Given the description of an element on the screen output the (x, y) to click on. 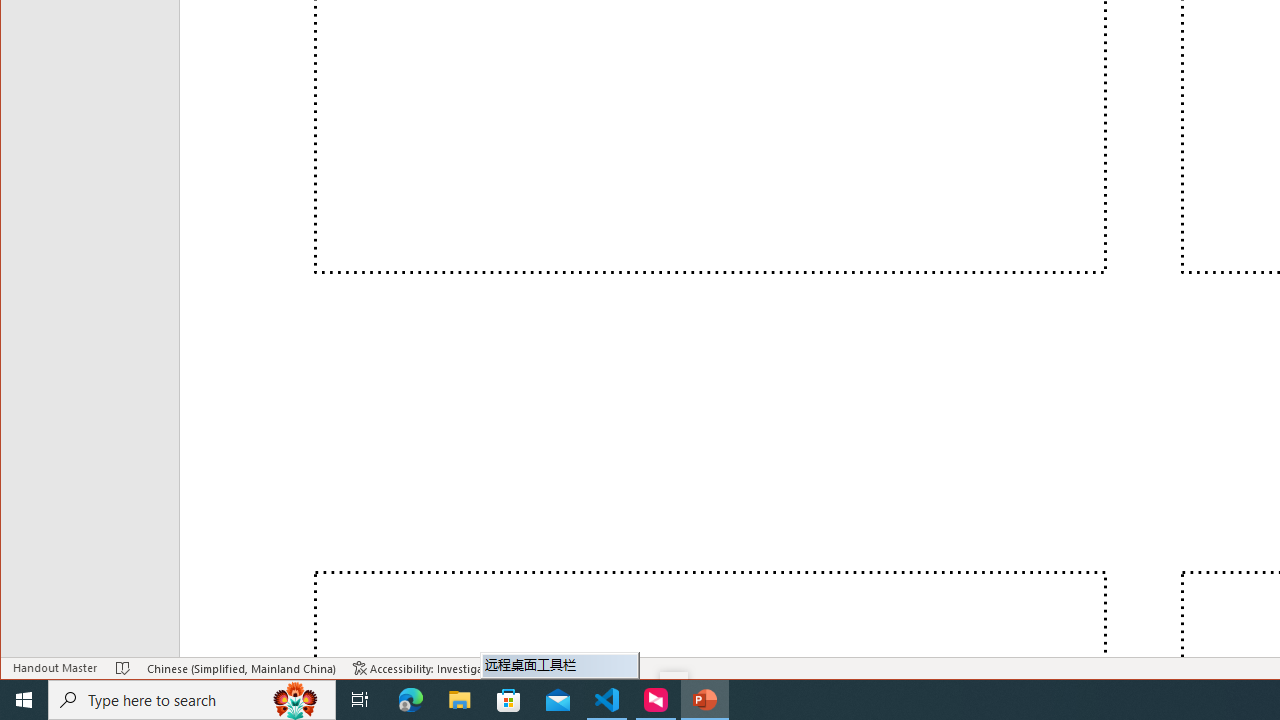
Search highlights icon opens search home window (295, 699)
File Explorer (460, 699)
PowerPoint - 1 running window (704, 699)
Start (24, 699)
Task View (359, 699)
Type here to search (191, 699)
Microsoft Edge (411, 699)
Visual Studio Code - 1 running window (607, 699)
Microsoft Store (509, 699)
